Given the description of an element on the screen output the (x, y) to click on. 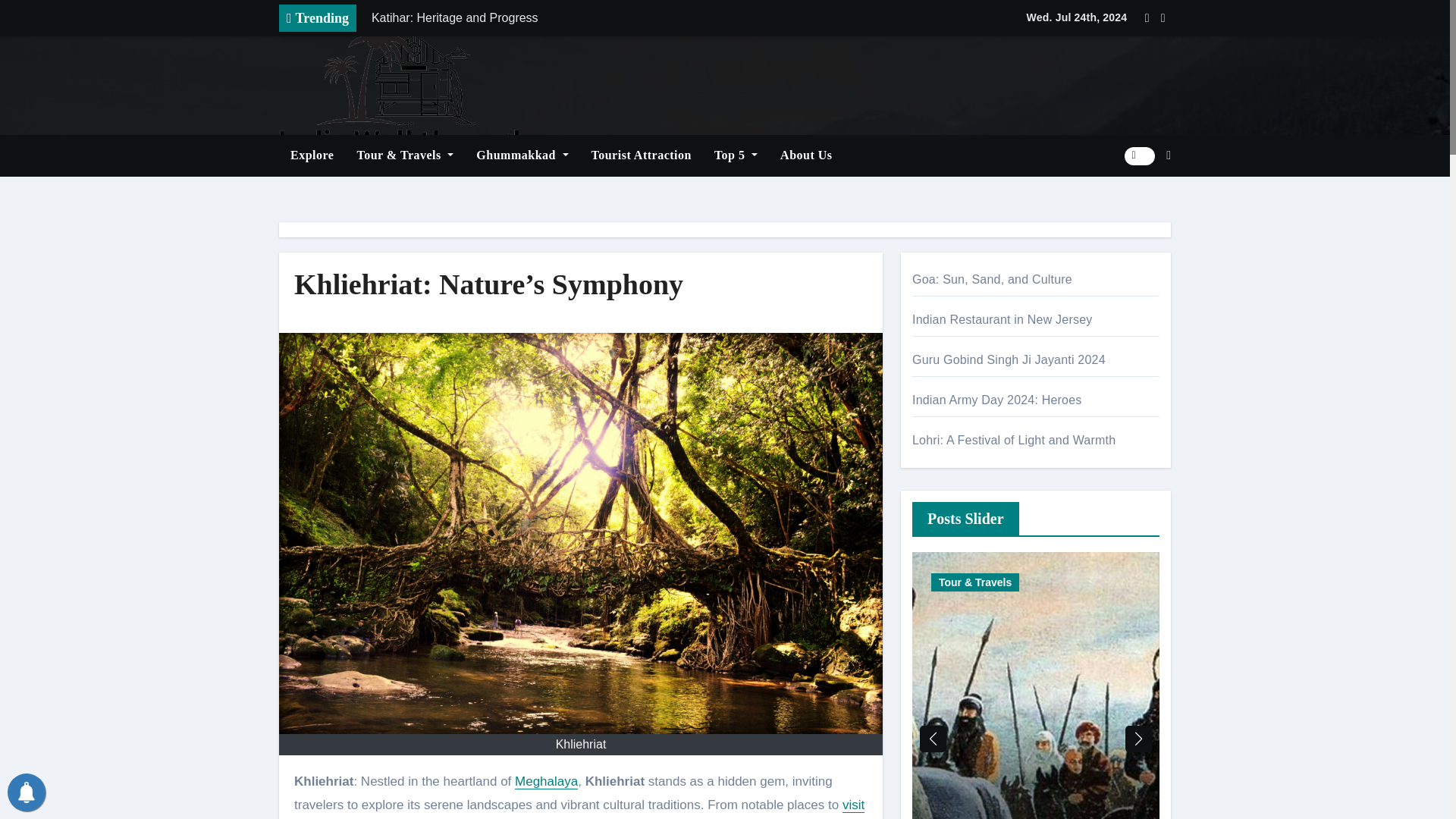
Katihar: Heritage and Progress (574, 18)
Explore (312, 155)
Explore (312, 155)
